Given the description of an element on the screen output the (x, y) to click on. 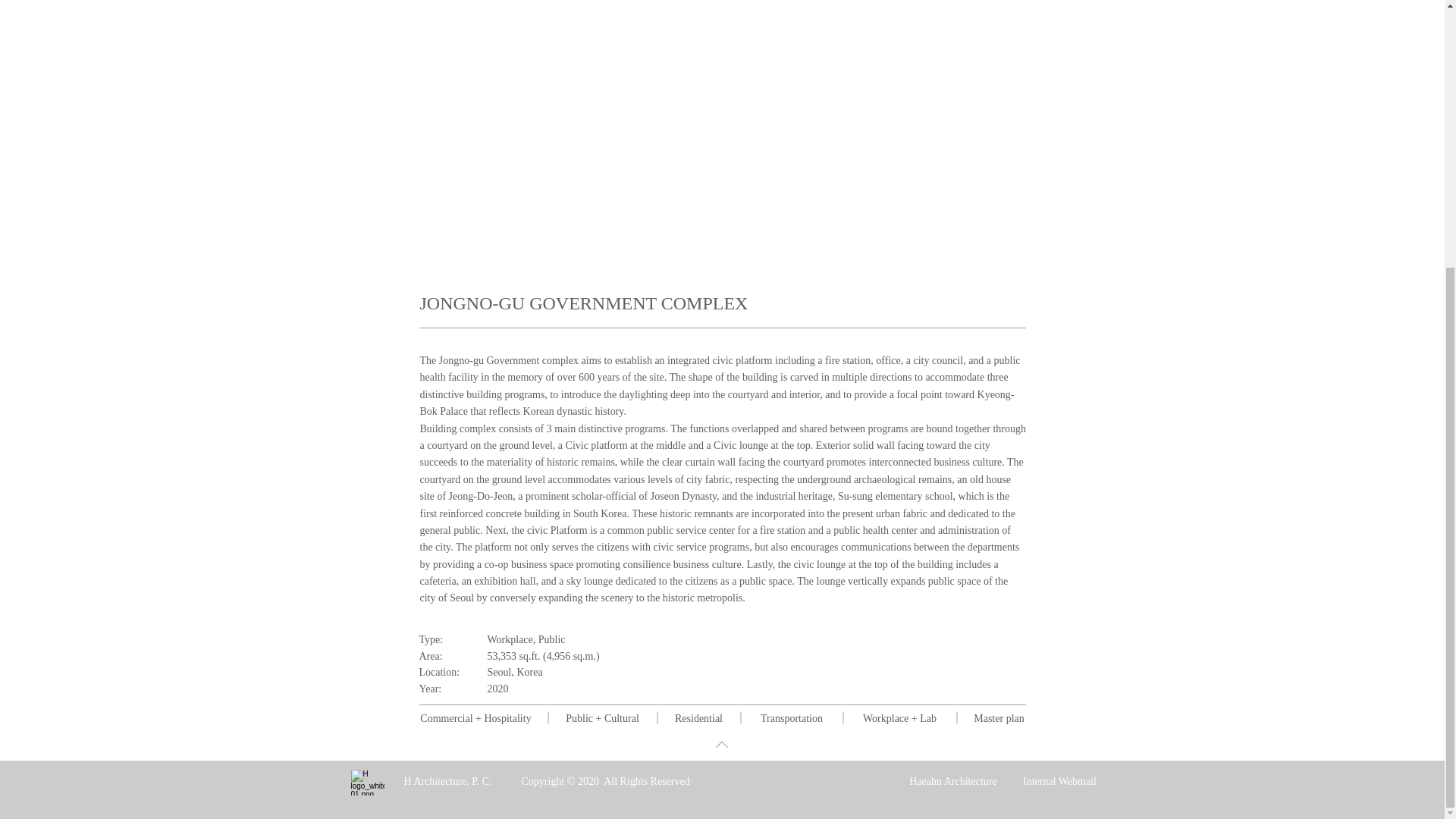
Haeahn Architecture (951, 392)
Master plan (998, 717)
Residential (698, 717)
Transportation (791, 717)
Internal Webmail (1059, 392)
